Given the description of an element on the screen output the (x, y) to click on. 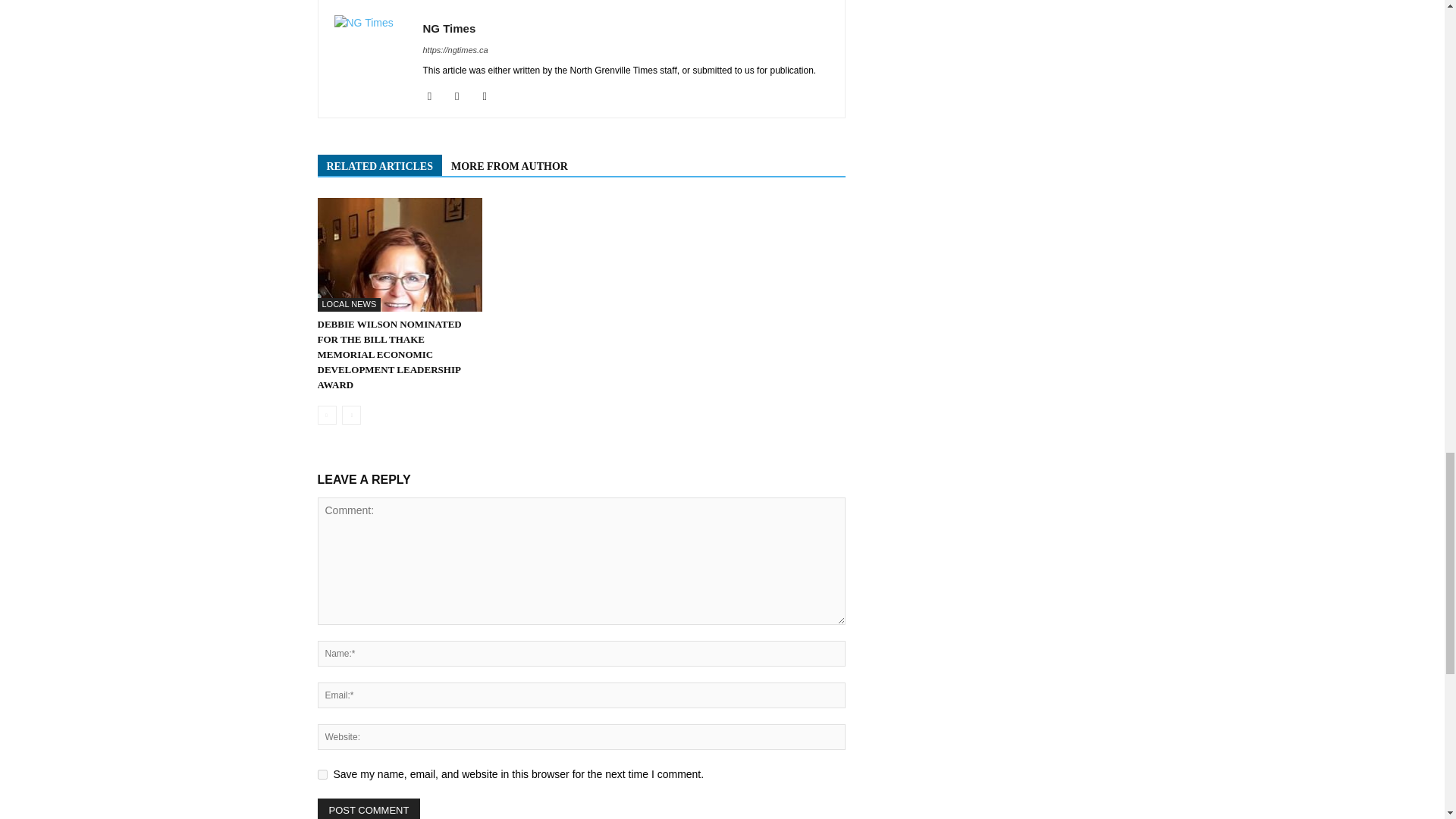
Post Comment (368, 808)
Instagram (462, 95)
Facebook (435, 95)
yes (321, 774)
